Given the description of an element on the screen output the (x, y) to click on. 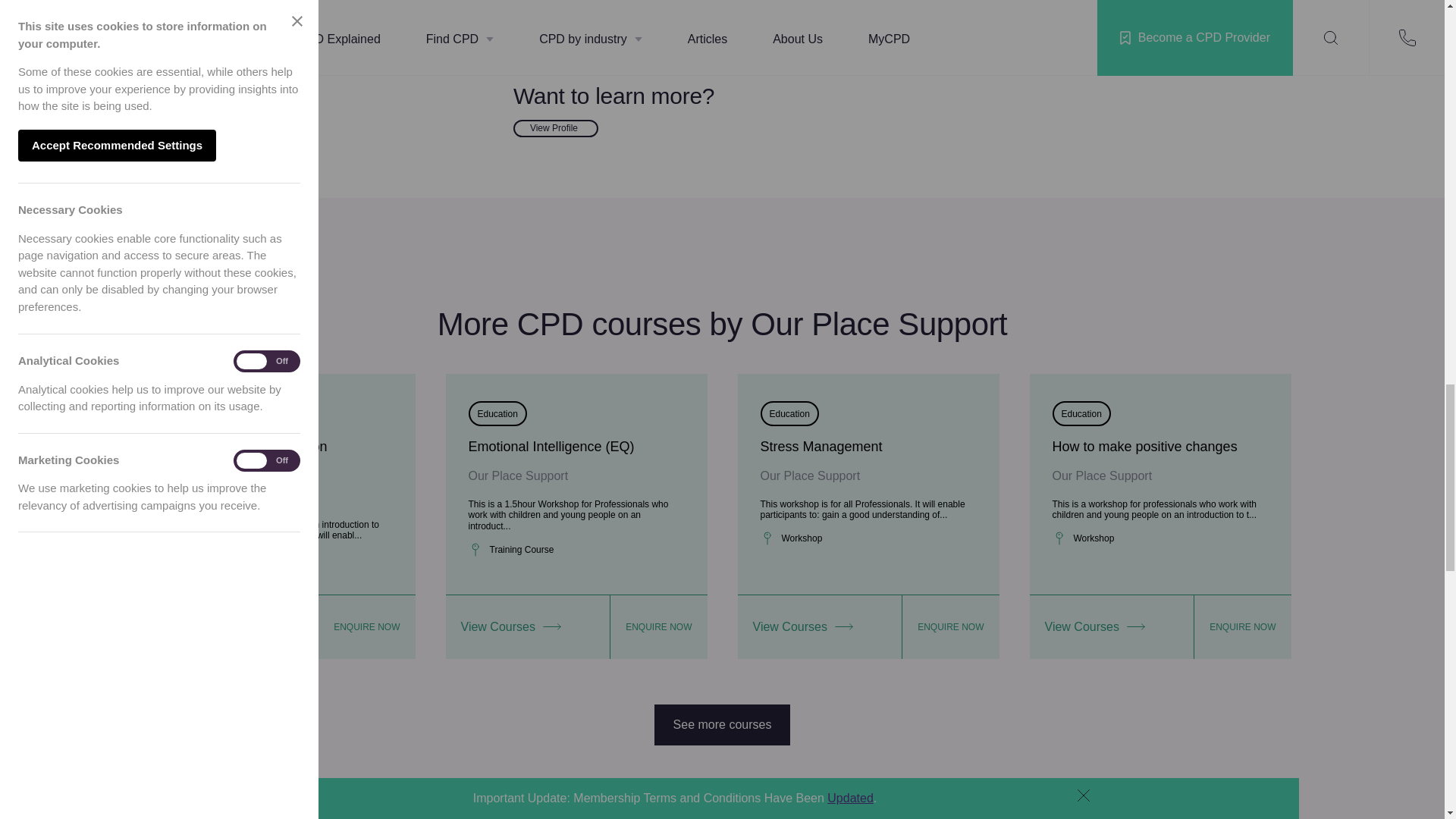
ENQUIRE NOW (1241, 627)
Child Sexual Exploitation Awareness (251, 456)
ENQUIRE NOW (365, 627)
See more courses (721, 724)
View Profile (555, 128)
View Courses (818, 627)
View Courses (234, 627)
View Courses (1111, 627)
How to make positive changes (1144, 446)
ENQUIRE NOW (658, 627)
Stress Management (821, 446)
ENQUIRE NOW (949, 627)
View Courses (527, 627)
